Given the description of an element on the screen output the (x, y) to click on. 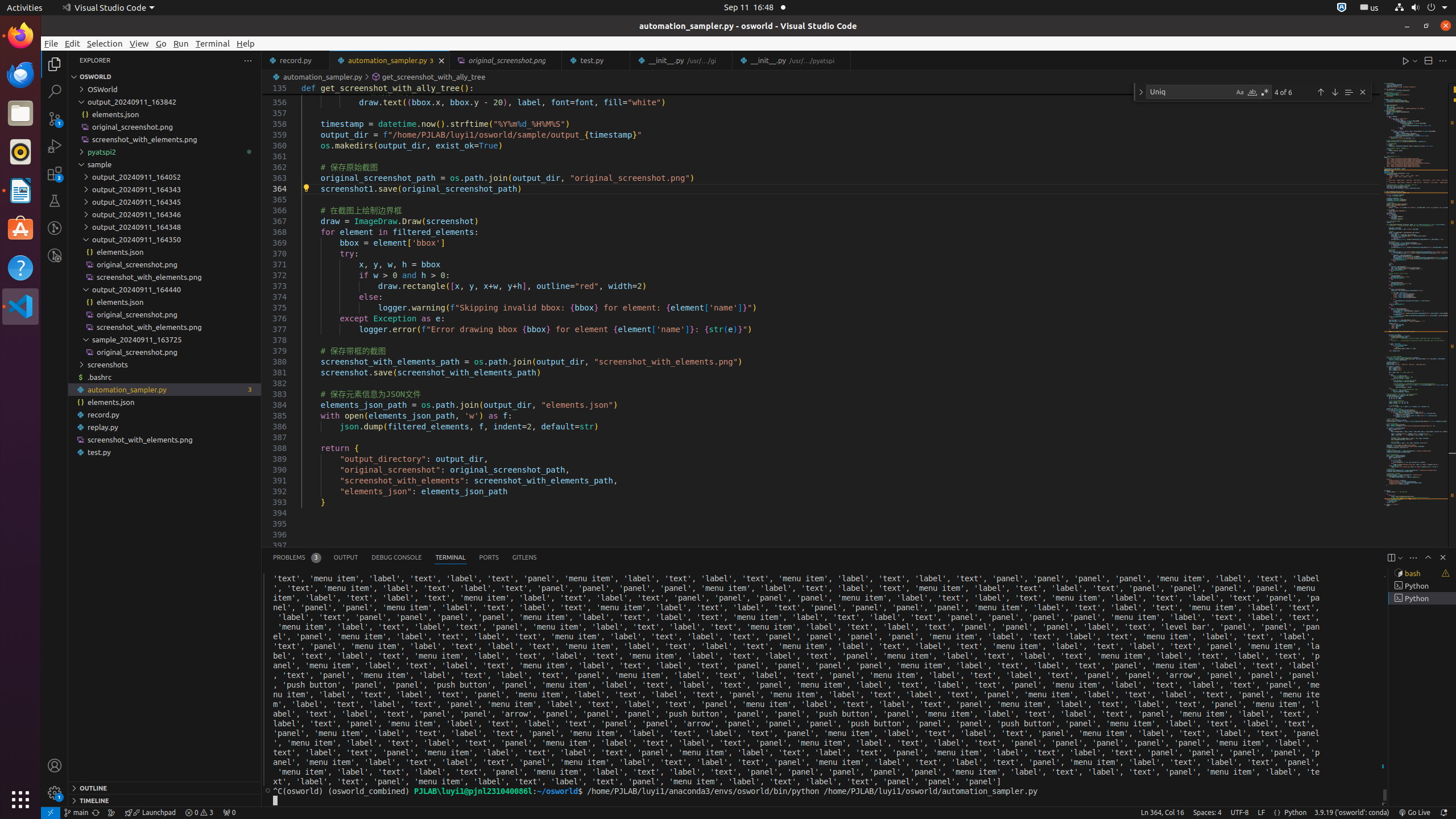
__init__.py Element type: page-tab (791, 60)
original_screenshot.png Element type: tree-item (164, 351)
Ports Element type: page-tab (488, 557)
Terminal 1 bash Element type: list-item (1422, 573)
Explorer Section: osworld Element type: push-button (164, 76)
